Given the description of an element on the screen output the (x, y) to click on. 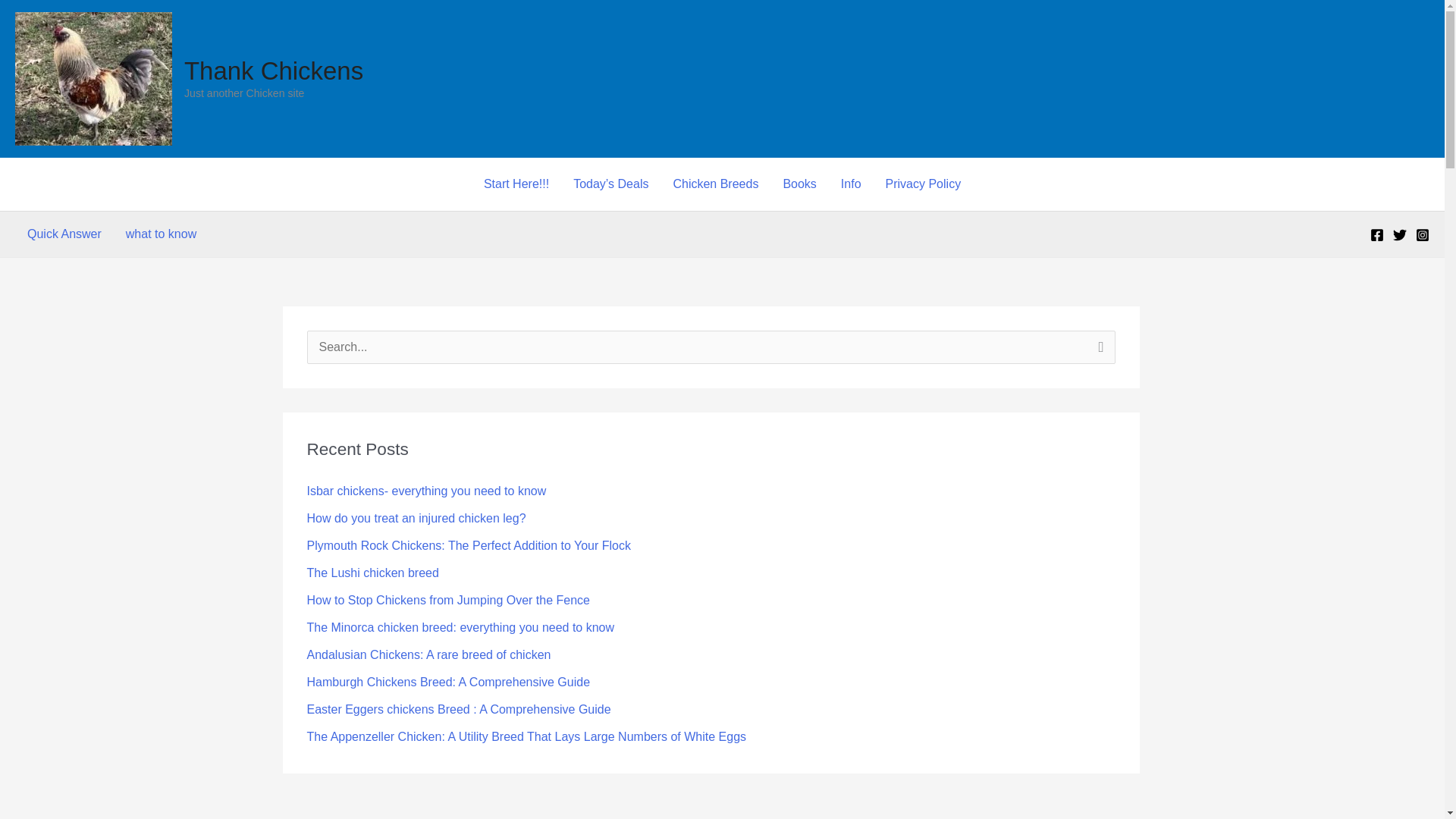
How do you treat an injured chicken leg? (415, 517)
Privacy Policy (923, 184)
The Minorca chicken breed: everything you need to know (459, 626)
Easter Eggers chickens Breed : A Comprehensive Guide (457, 708)
How to Stop Chickens from Jumping Over the Fence (447, 599)
Quick Answer (63, 234)
The Lushi chicken breed (371, 572)
Isbar chickens- everything you need to know (425, 490)
Thank Chickens (273, 70)
Chicken Breeds (715, 184)
Start Here!!! (515, 184)
Hamburgh Chickens Breed: A Comprehensive Guide (447, 681)
Plymouth Rock Chickens: The Perfect Addition to Your Flock (467, 545)
Books (799, 184)
